Given the description of an element on the screen output the (x, y) to click on. 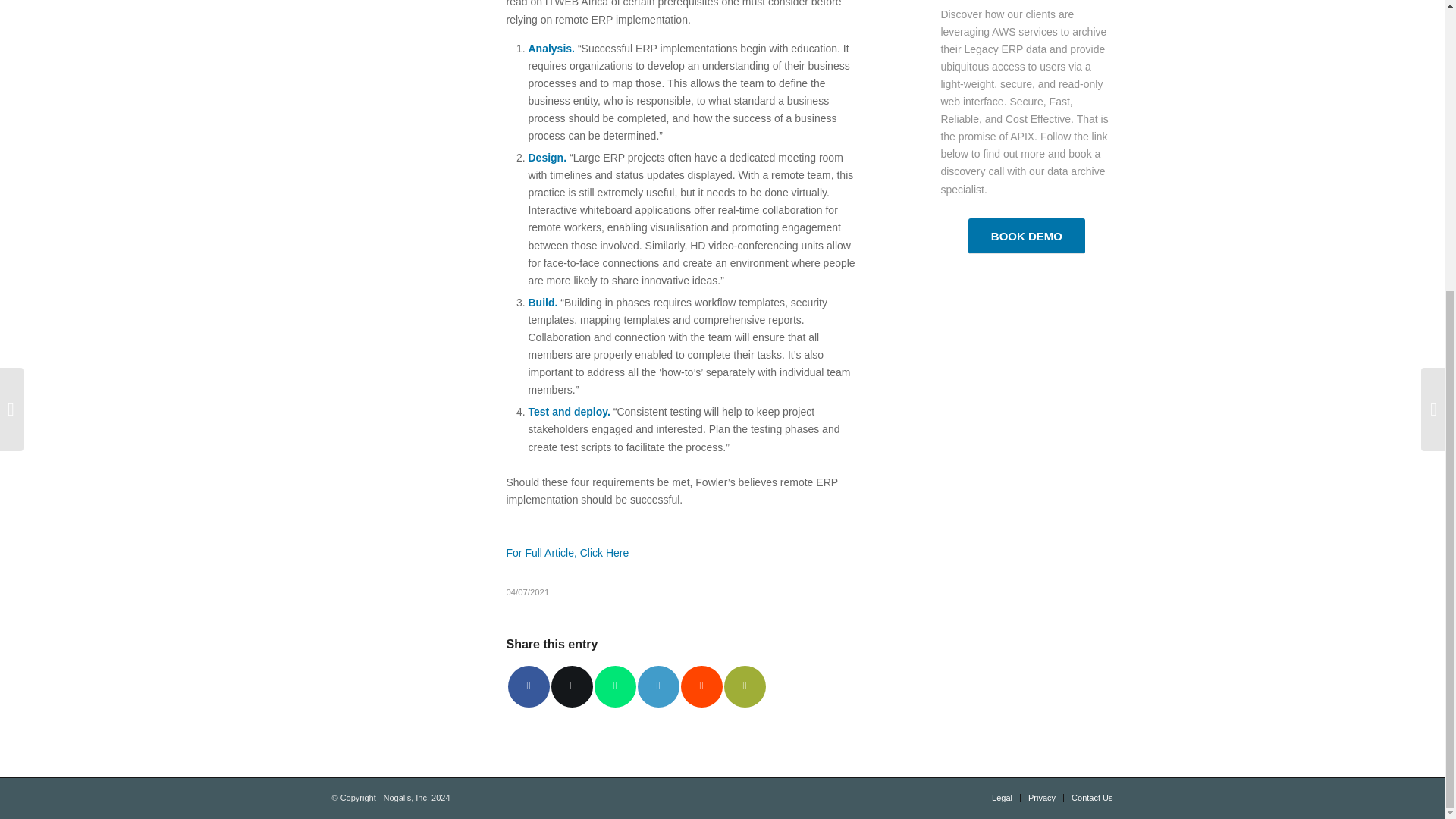
Book a time to discuss your project with an expert (1026, 235)
Privacy (1041, 797)
BOOK DEMO (1026, 235)
Legal (1001, 797)
For Full Article, Click Here (567, 552)
Contact Us (1091, 797)
